Given the description of an element on the screen output the (x, y) to click on. 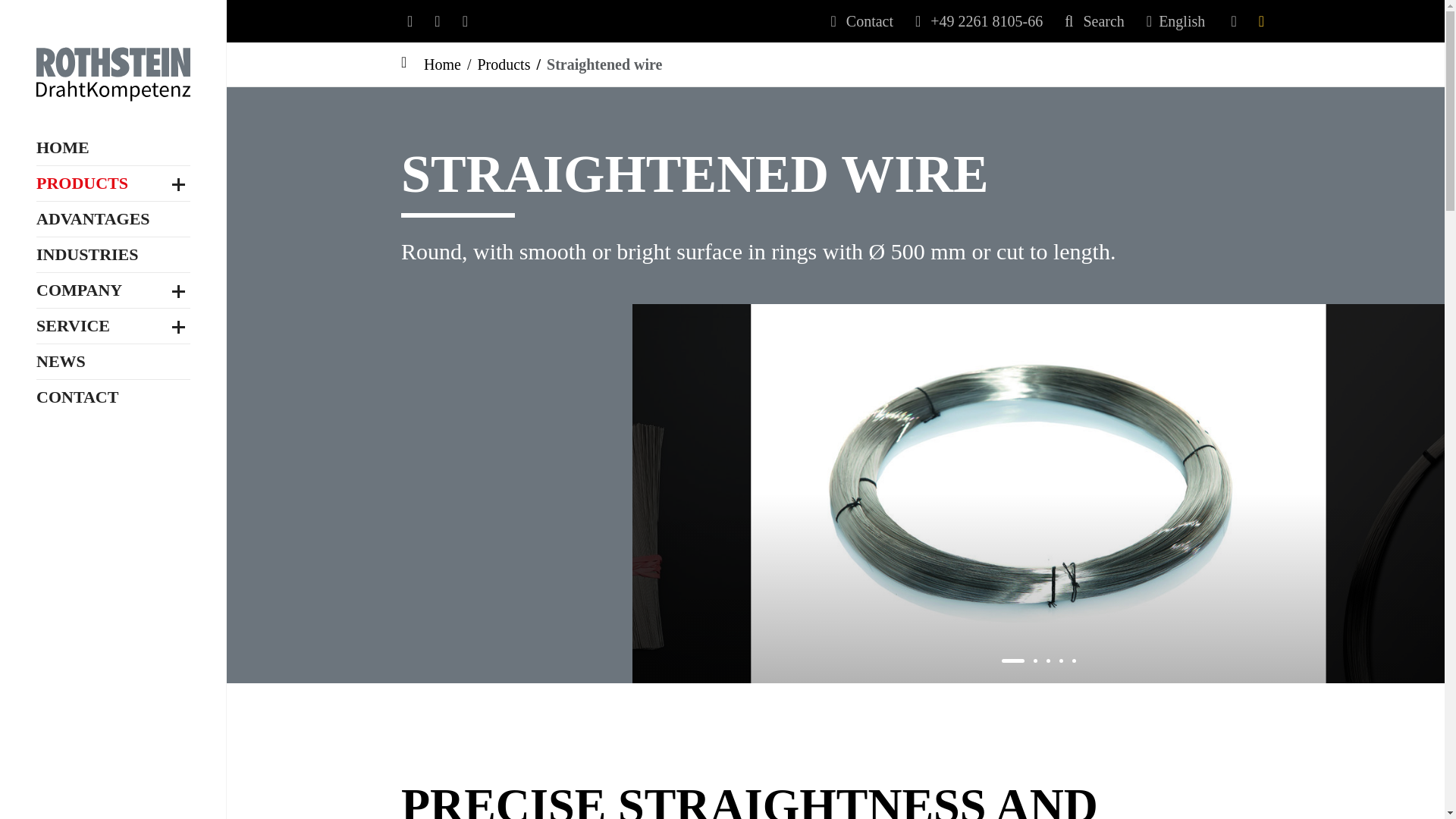
Cutting (113, 385)
PRODUCTS (82, 140)
Delivery forms (113, 435)
Crimped wire (113, 195)
Alloy surcharges (113, 806)
Straightened wire (113, 219)
Material consulting (113, 732)
SERVICE (73, 702)
Quality (113, 582)
Contact (862, 21)
Material overview (113, 169)
Search (1094, 21)
Worldwide (113, 631)
Team (113, 606)
INDUSTRIES (87, 515)
